Given the description of an element on the screen output the (x, y) to click on. 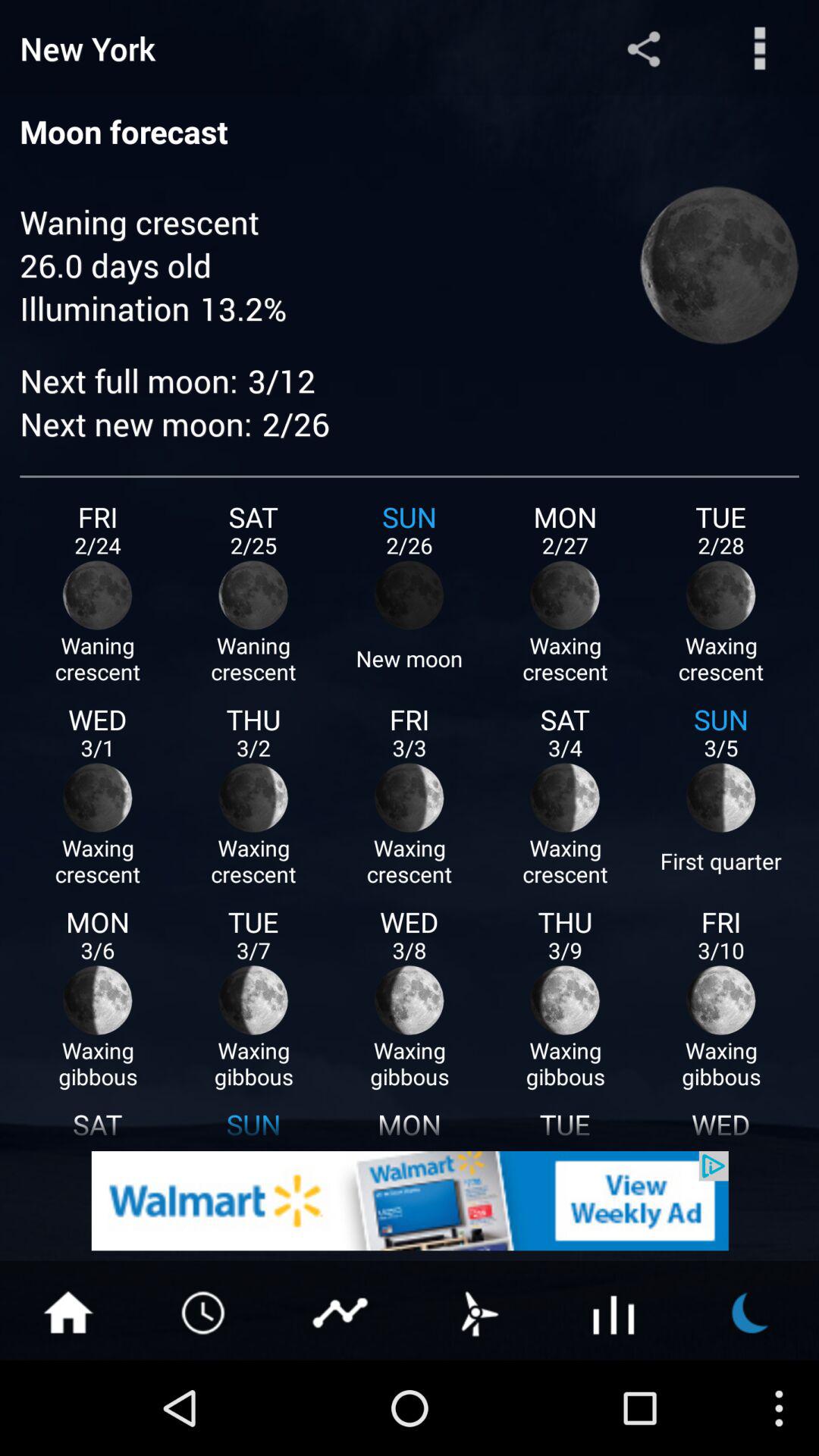
wind check button (477, 1311)
